Given the description of an element on the screen output the (x, y) to click on. 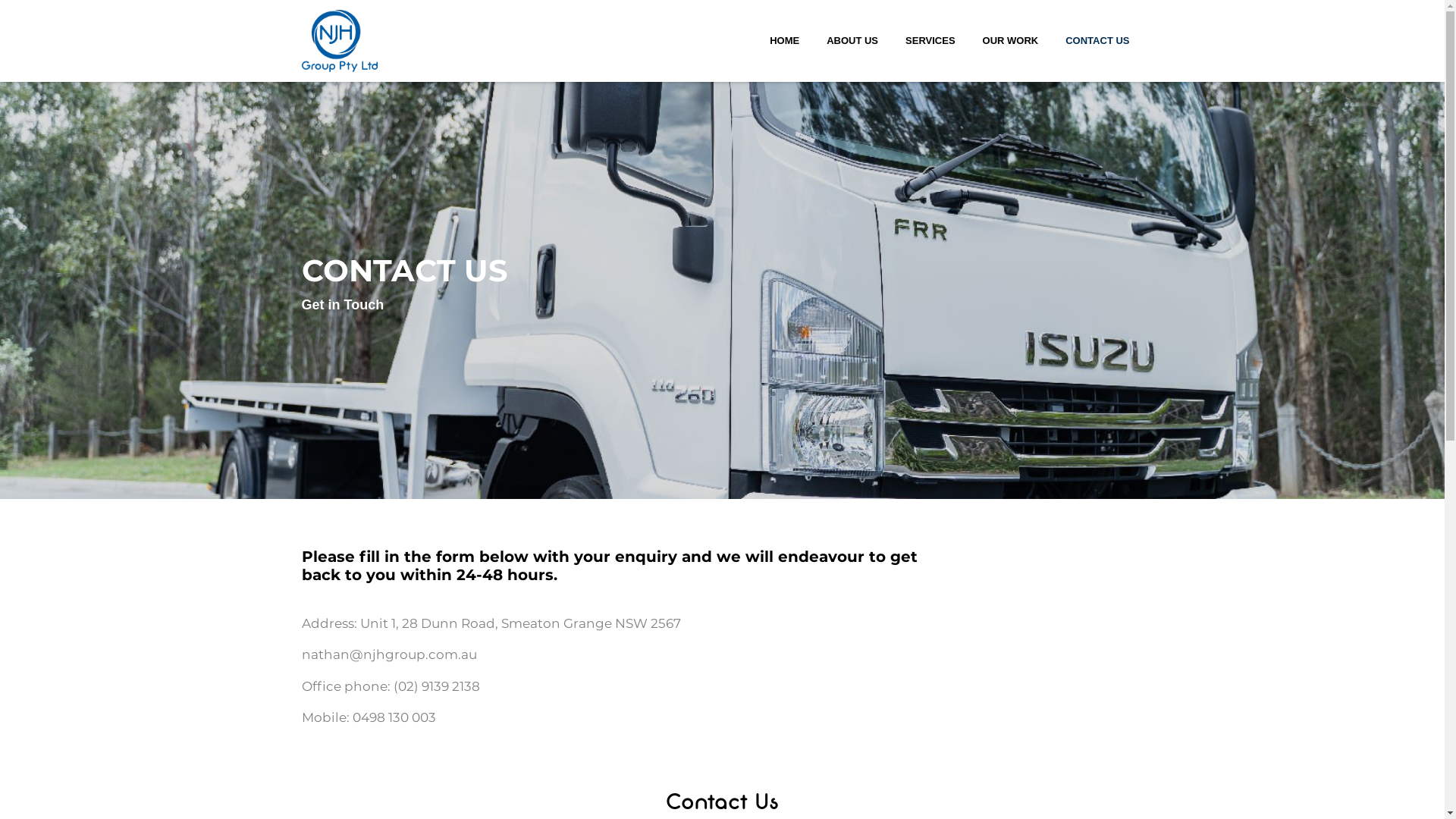
ABOUT US Element type: text (852, 40)
CONTACT US Element type: text (1097, 40)
OUR WORK Element type: text (1010, 40)
SERVICES Element type: text (930, 40)
HOME Element type: text (784, 40)
